Given the description of an element on the screen output the (x, y) to click on. 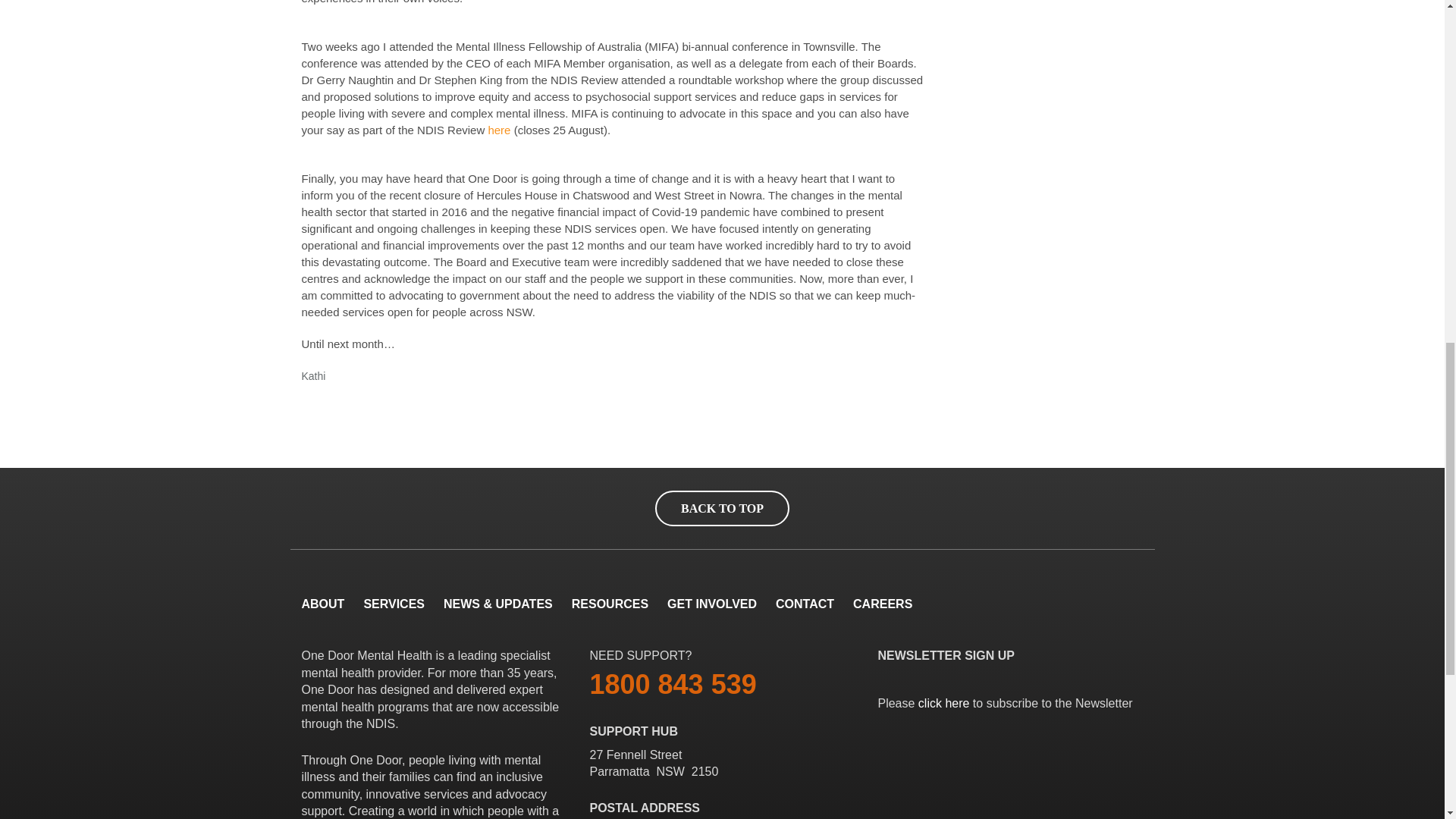
GET INVOLVED (711, 603)
click here (943, 703)
CONTACT (805, 603)
BACK TO TOP (722, 508)
ABOUT (323, 603)
RESOURCES (609, 603)
CAREERS (882, 603)
SERVICES (393, 603)
here (499, 129)
